Given the description of an element on the screen output the (x, y) to click on. 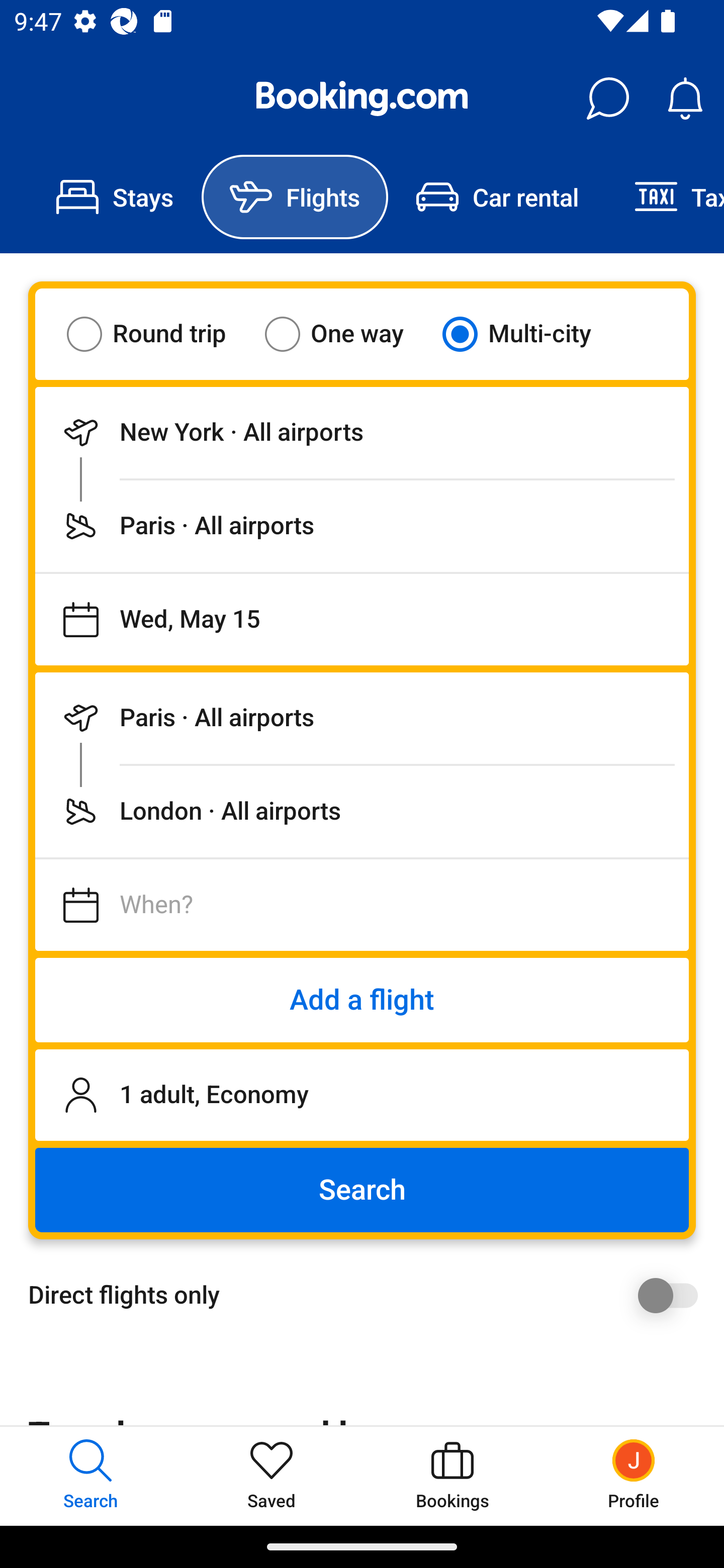
Messages (607, 98)
Notifications (685, 98)
Stays (114, 197)
Flights (294, 197)
Car rental (497, 197)
Taxi (665, 197)
Round trip (158, 333)
One way (346, 333)
Flight 1, departing from New York · All airports (361, 432)
Flight 1, flying to Paris · All airports (361, 525)
Flight 1 departing on Wed, May 15 (361, 618)
Flight 2, departing from Paris · All airports (361, 717)
Flight 2, flying to London · All airports (361, 811)
Flight 2 departing on Wed, May 15 (361, 904)
Add a flight (361, 1000)
1 adult, Economy (361, 1094)
Search (361, 1189)
Direct flights only (369, 1294)
Saved (271, 1475)
Bookings (452, 1475)
Profile (633, 1475)
